Given the description of an element on the screen output the (x, y) to click on. 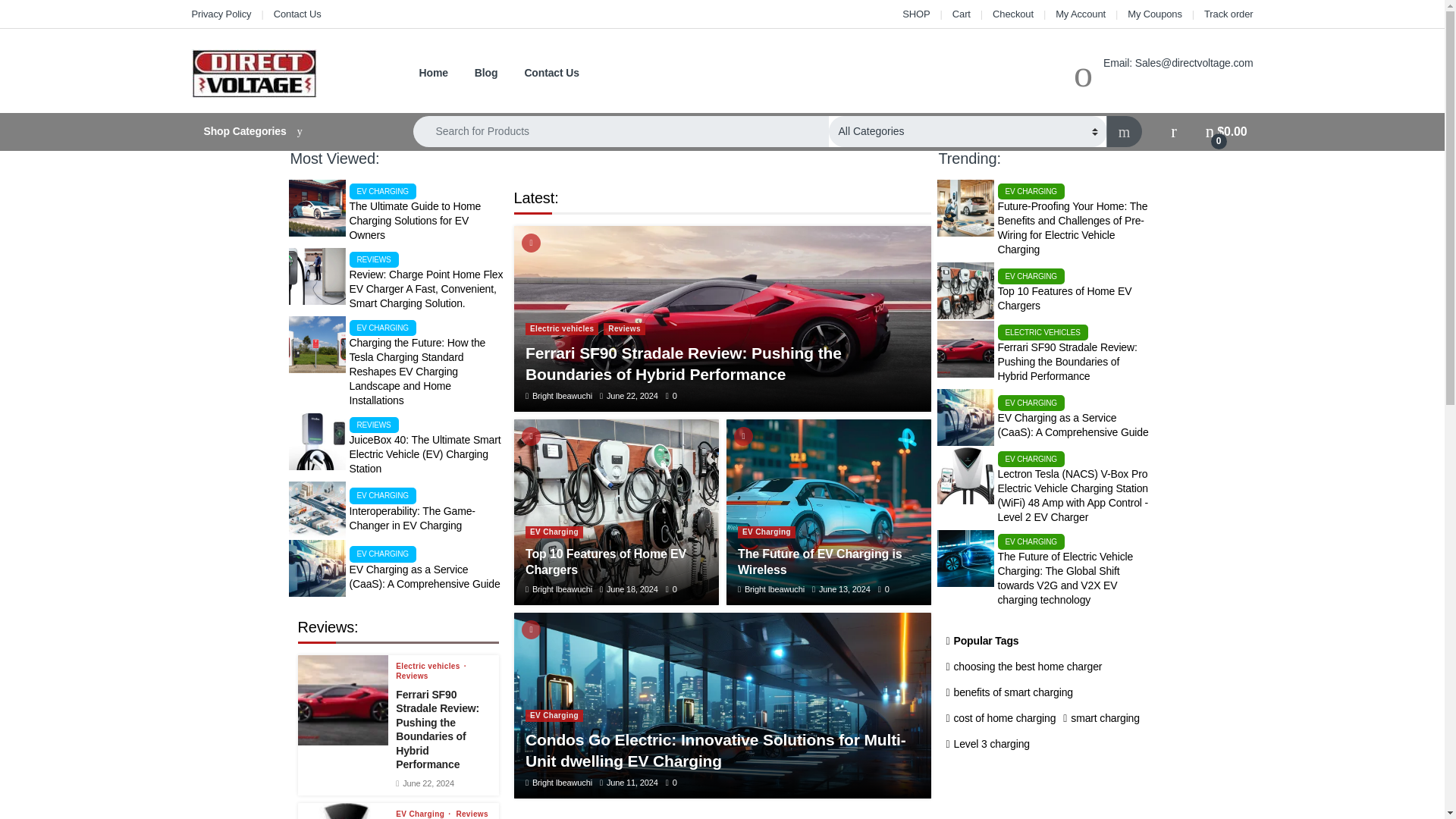
Privacy Policy (220, 13)
Checkout (1012, 13)
Contact Us (297, 13)
My Coupons (1154, 13)
Contact Us (551, 73)
My Account (1080, 13)
Shop Categories (287, 131)
Privacy Policy (220, 13)
SHOP (916, 13)
Track order (1228, 13)
